Given the description of an element on the screen output the (x, y) to click on. 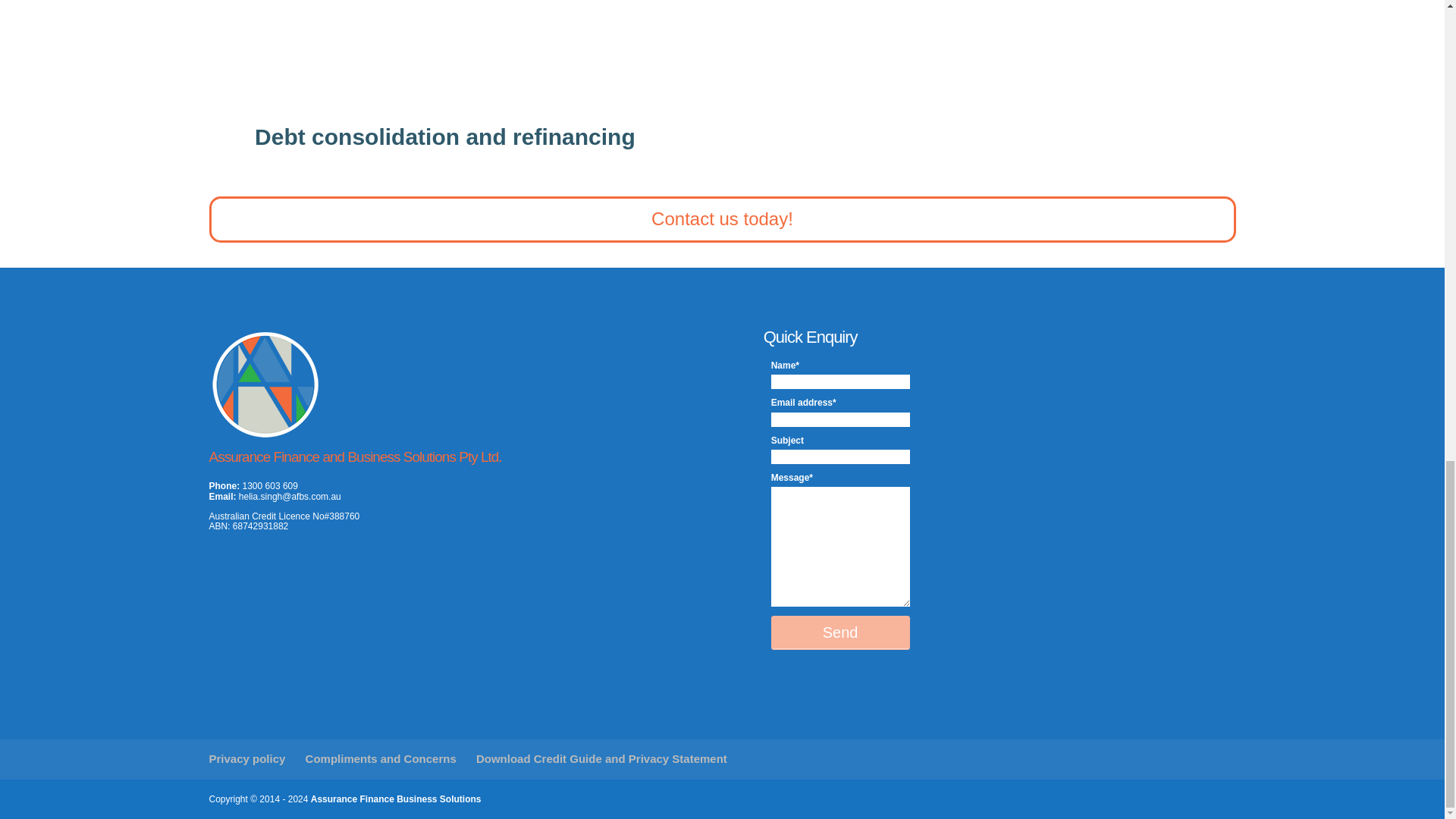
Send (840, 632)
